Given the description of an element on the screen output the (x, y) to click on. 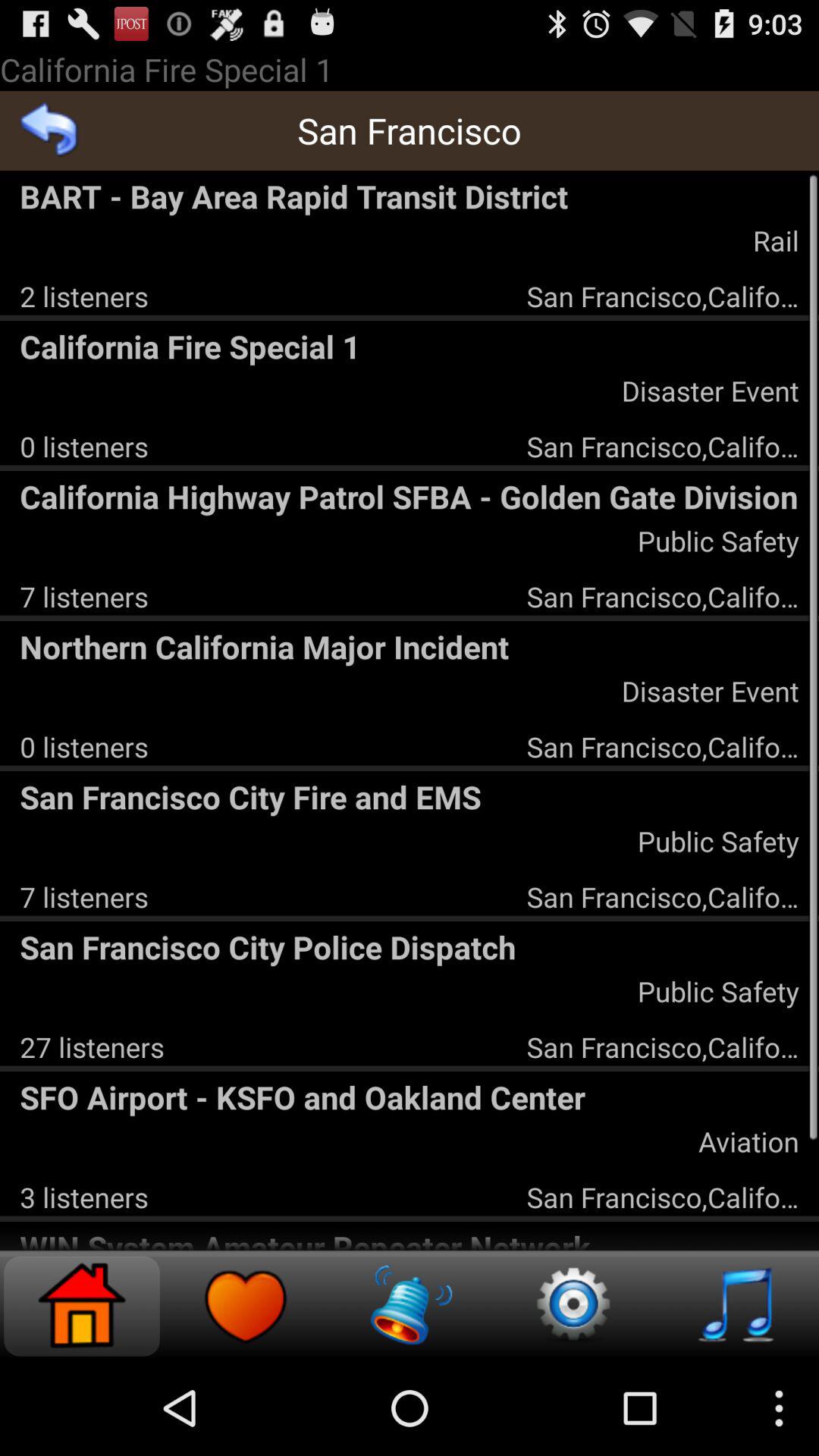
scroll until the bart bay area (409, 195)
